Given the description of an element on the screen output the (x, y) to click on. 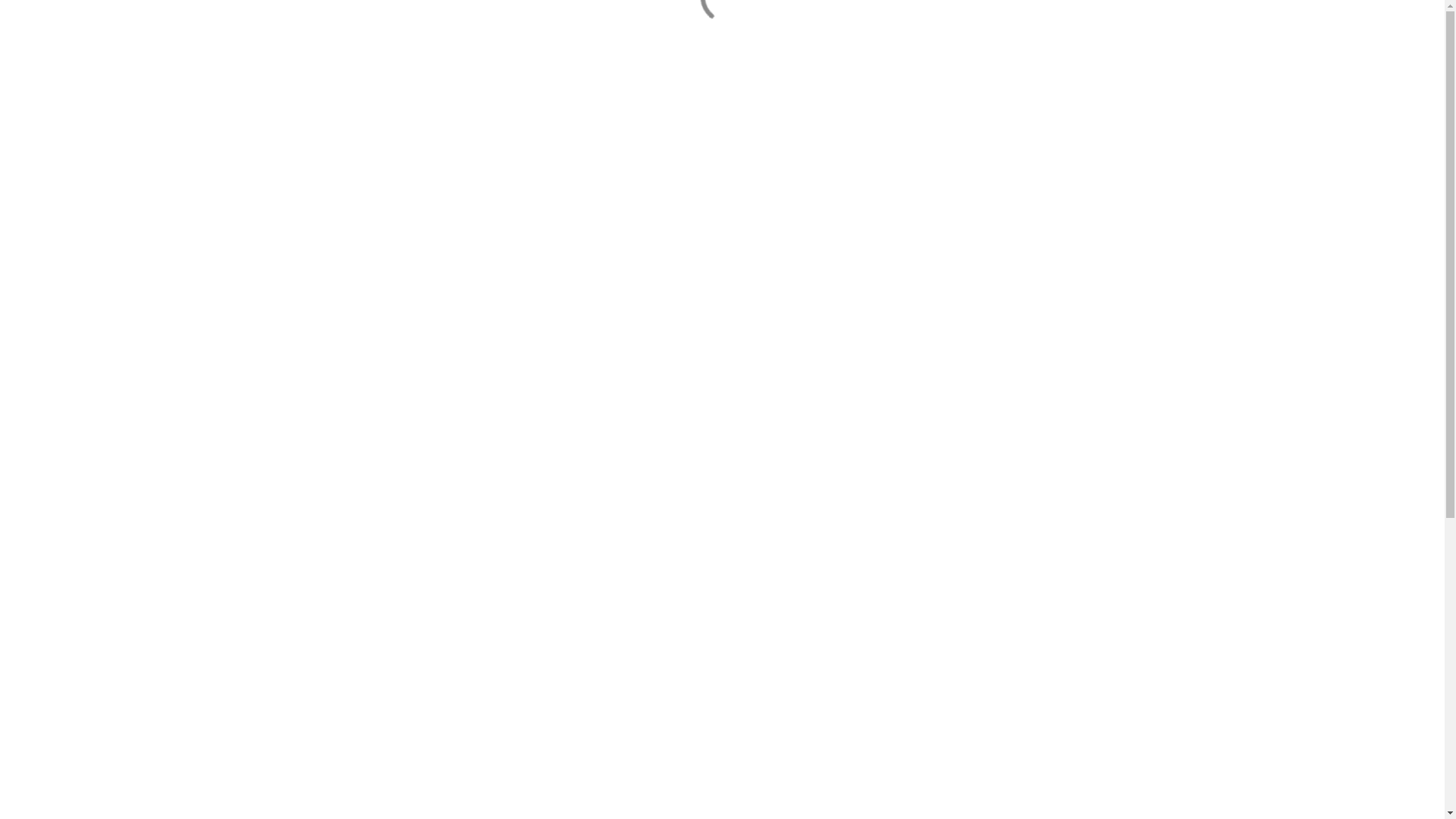
KEY PEOPLE Element type: text (257, 249)
rick@cpistrategic.com.au Element type: text (533, 141)
CONTACT US Element type: text (260, 285)
CLICK HERE TO VIEW THE REPORT Element type: text (301, 697)
0428227916 Element type: text (502, 123)
ABOUT CPI STRATEGIC Element type: text (287, 230)
Skip to main content Element type: text (5, 5)
HOME Element type: text (241, 212)
Close Menu Element type: text (1414, 29)
OCCASIONAL REPORTS Element type: text (287, 267)
